Given the description of an element on the screen output the (x, y) to click on. 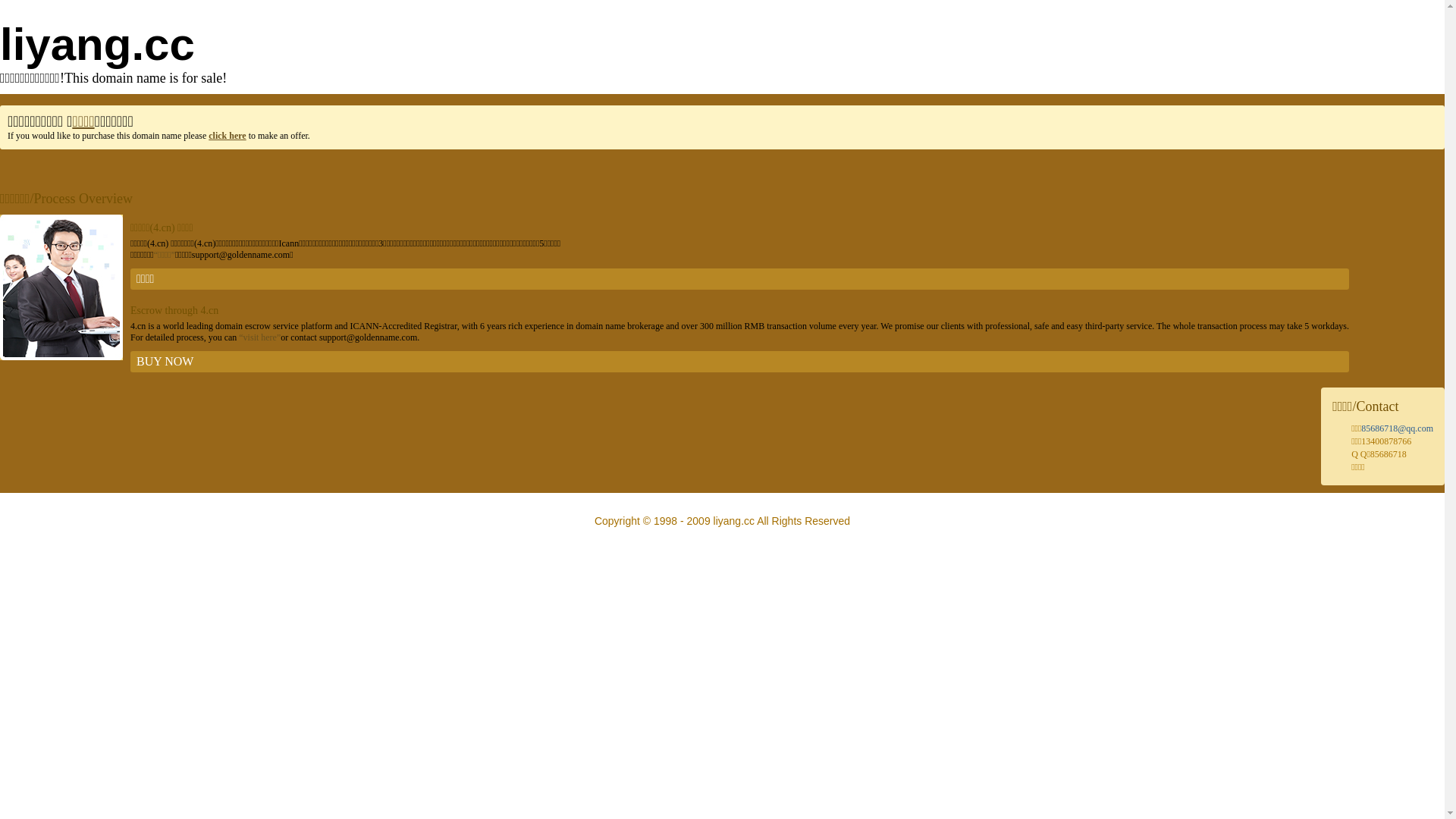
BUY NOW Element type: text (739, 361)
click here Element type: text (226, 135)
85686718@qq.com Element type: text (1397, 428)
